Given the description of an element on the screen output the (x, y) to click on. 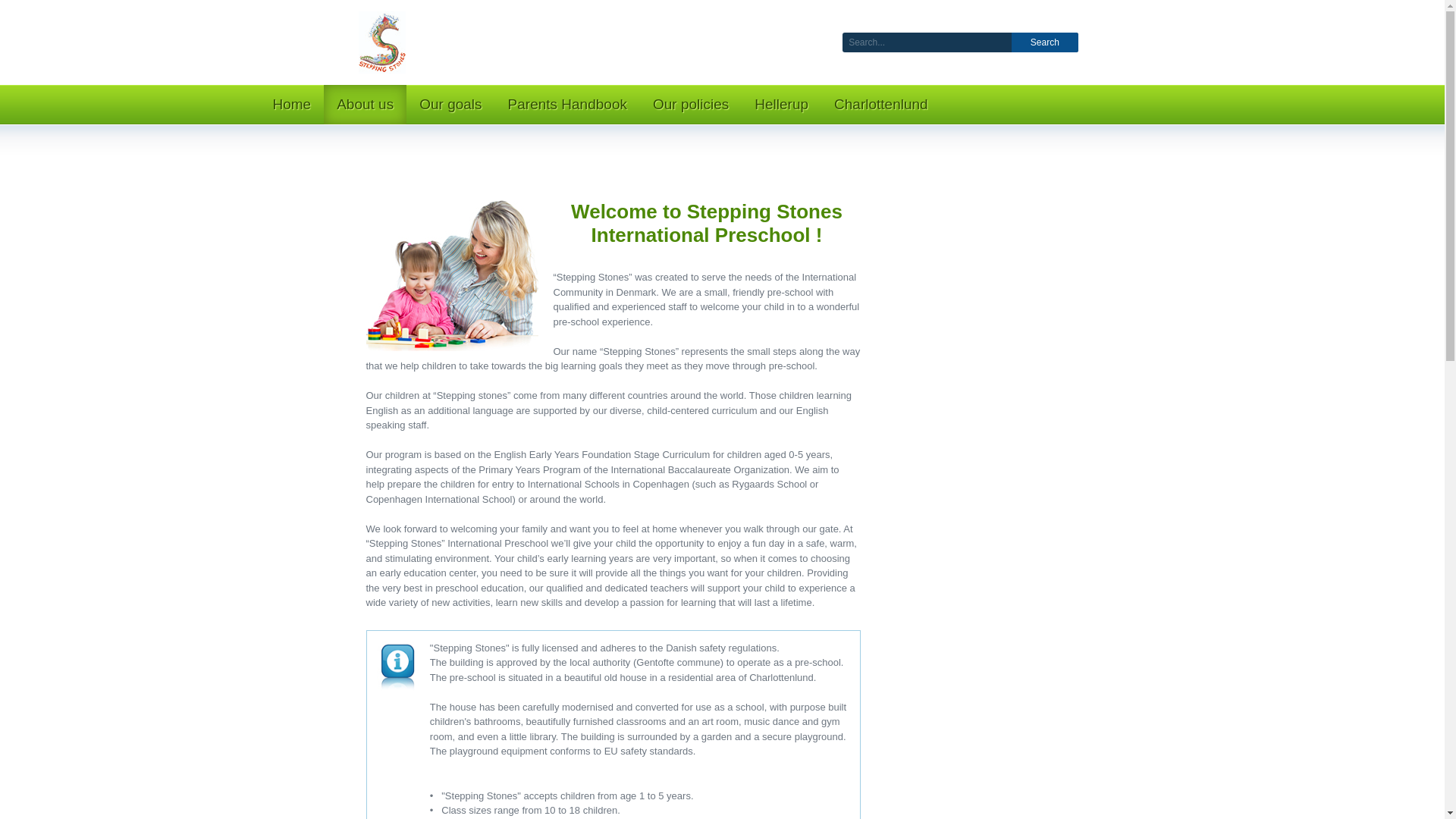
Our policies (690, 104)
About us (364, 104)
Home (291, 104)
Parents Handbook (567, 104)
Hellerup (781, 104)
Our goals (450, 104)
Search (1044, 42)
Charlottenlund (880, 104)
